Given the description of an element on the screen output the (x, y) to click on. 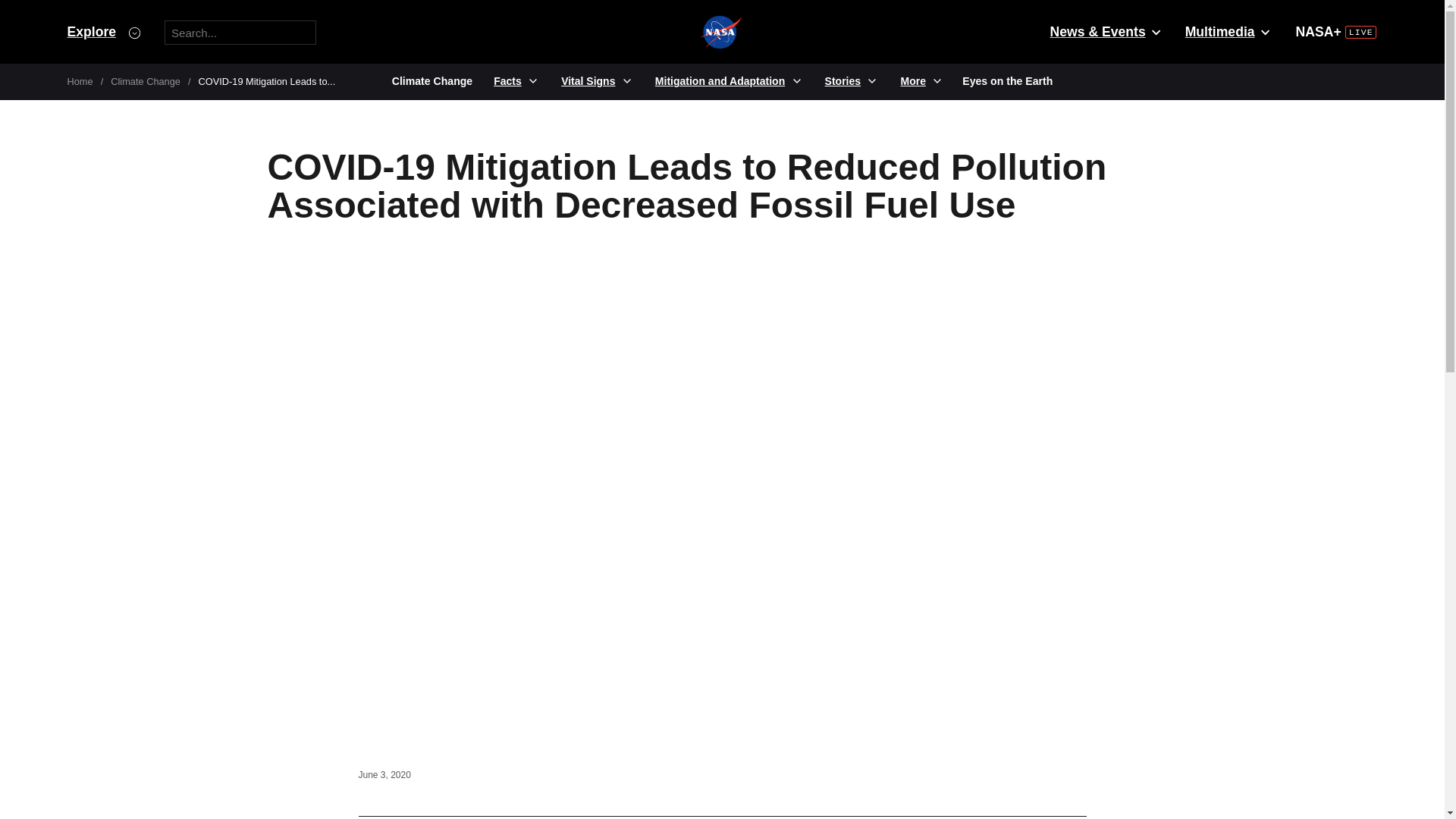
Climate Change (145, 81)
Home (79, 81)
